Given the description of an element on the screen output the (x, y) to click on. 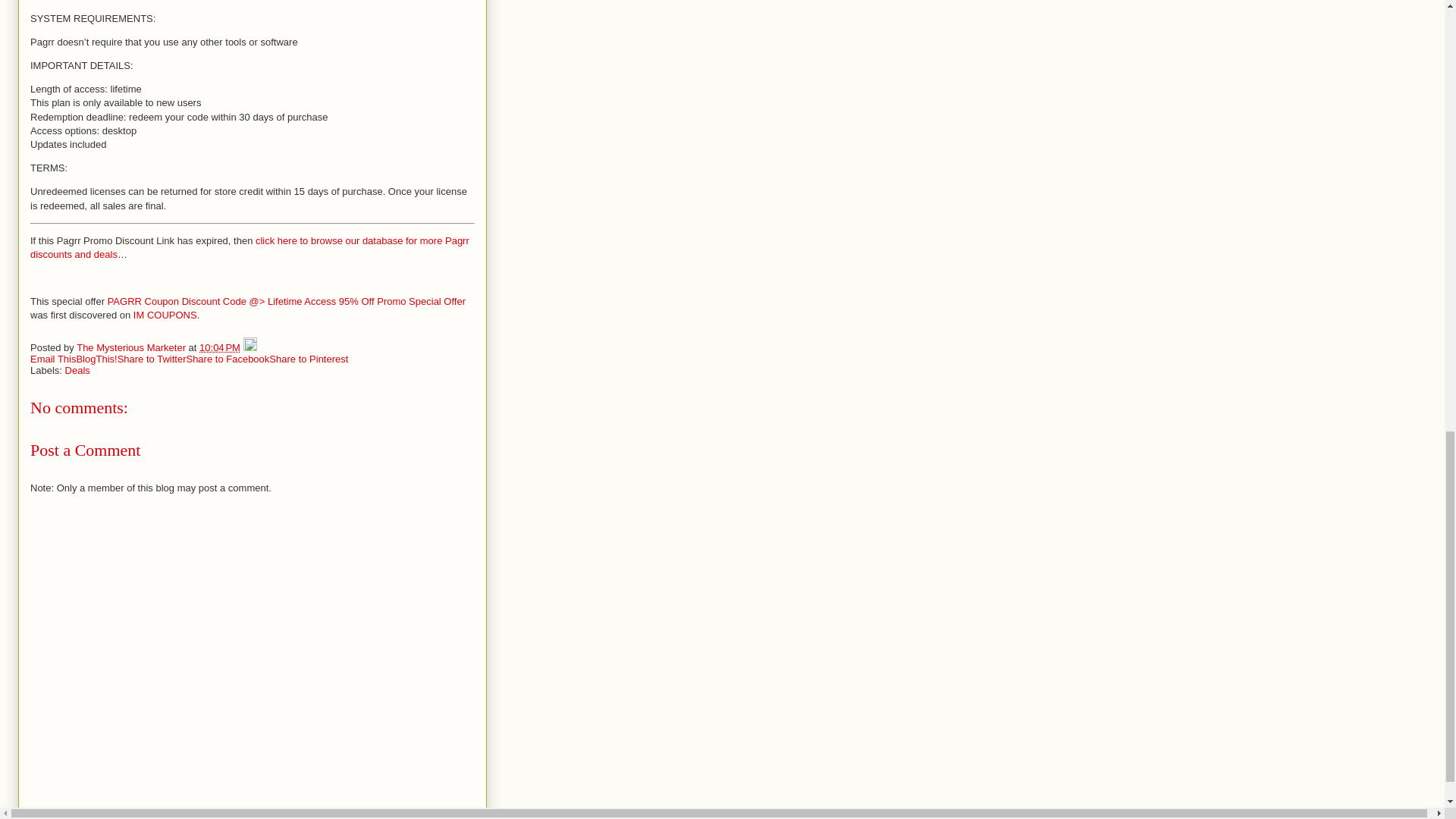
Share to Facebook (227, 358)
author profile (132, 347)
BlogThis! (95, 358)
Email This (52, 358)
Share to Twitter (151, 358)
permanent link (219, 347)
Share to Facebook (227, 358)
Share to Twitter (151, 358)
Email This (52, 358)
Deals (77, 369)
Share to Pinterest (308, 358)
Edit Post (250, 347)
The Mysterious Marketer (132, 347)
